Given the description of an element on the screen output the (x, y) to click on. 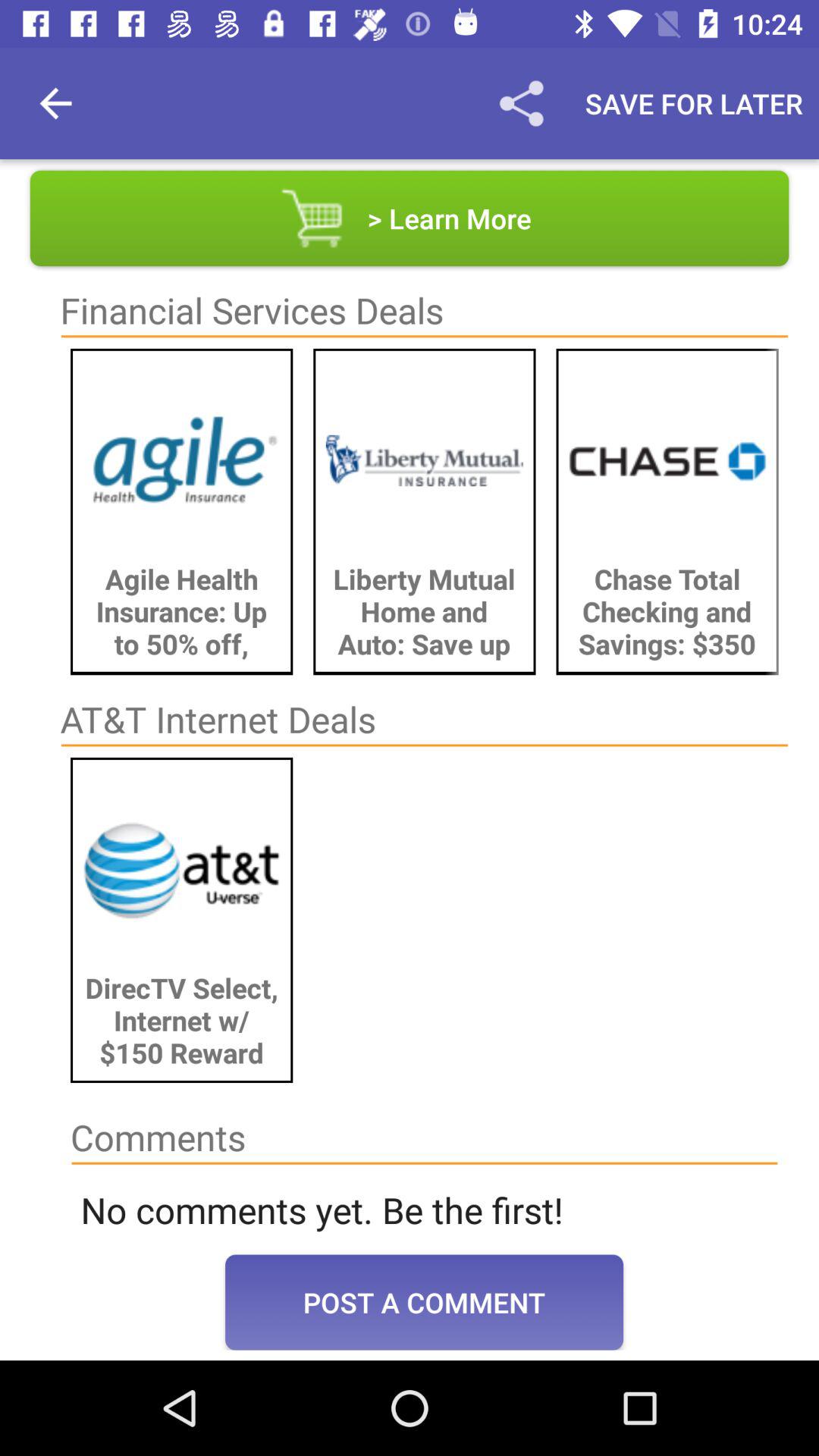
turn off the item to the left of save for later icon (521, 103)
